Given the description of an element on the screen output the (x, y) to click on. 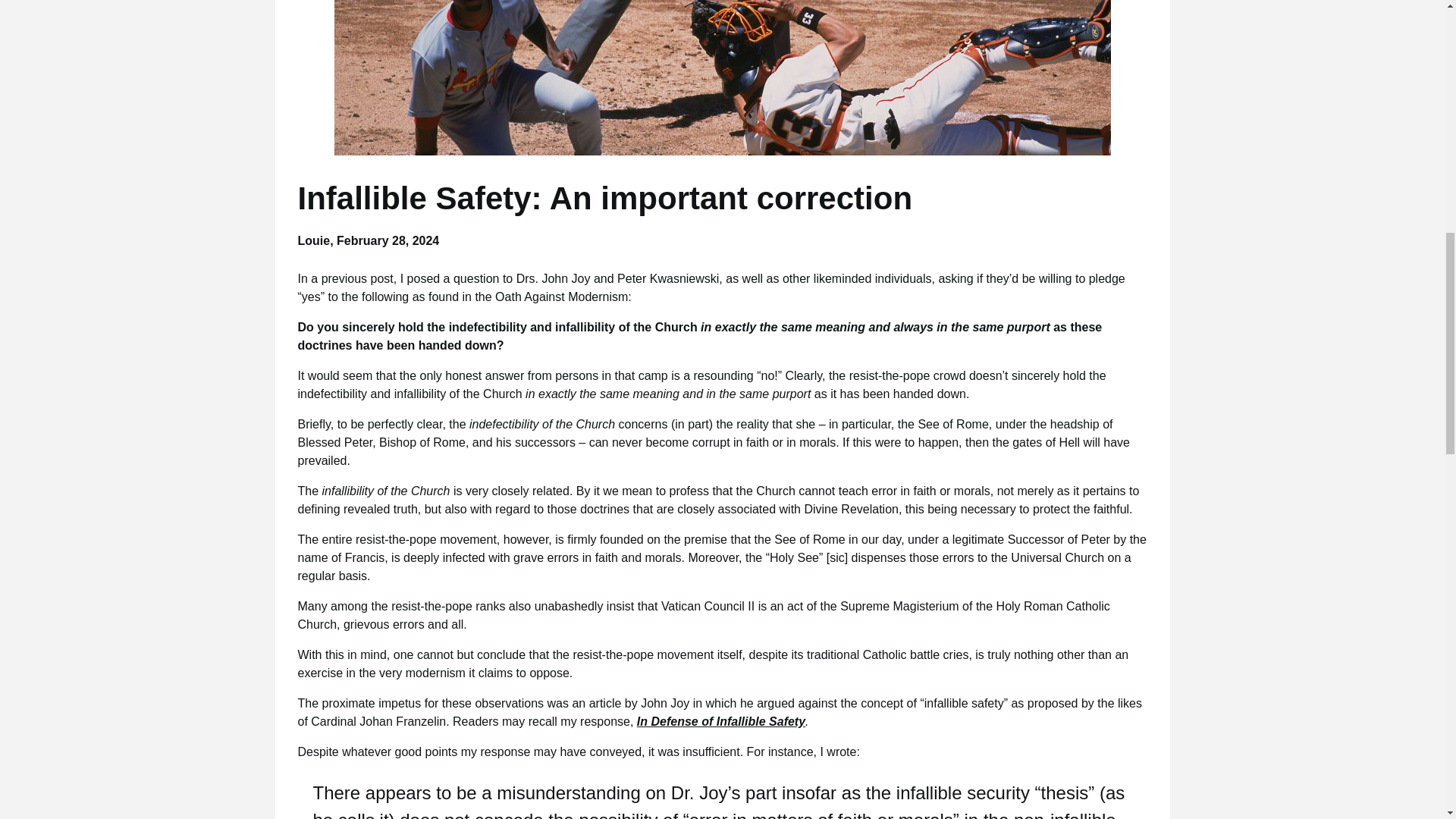
In Defense of Infallible Safety (721, 721)
February 28, 2024 (387, 240)
